Given the description of an element on the screen output the (x, y) to click on. 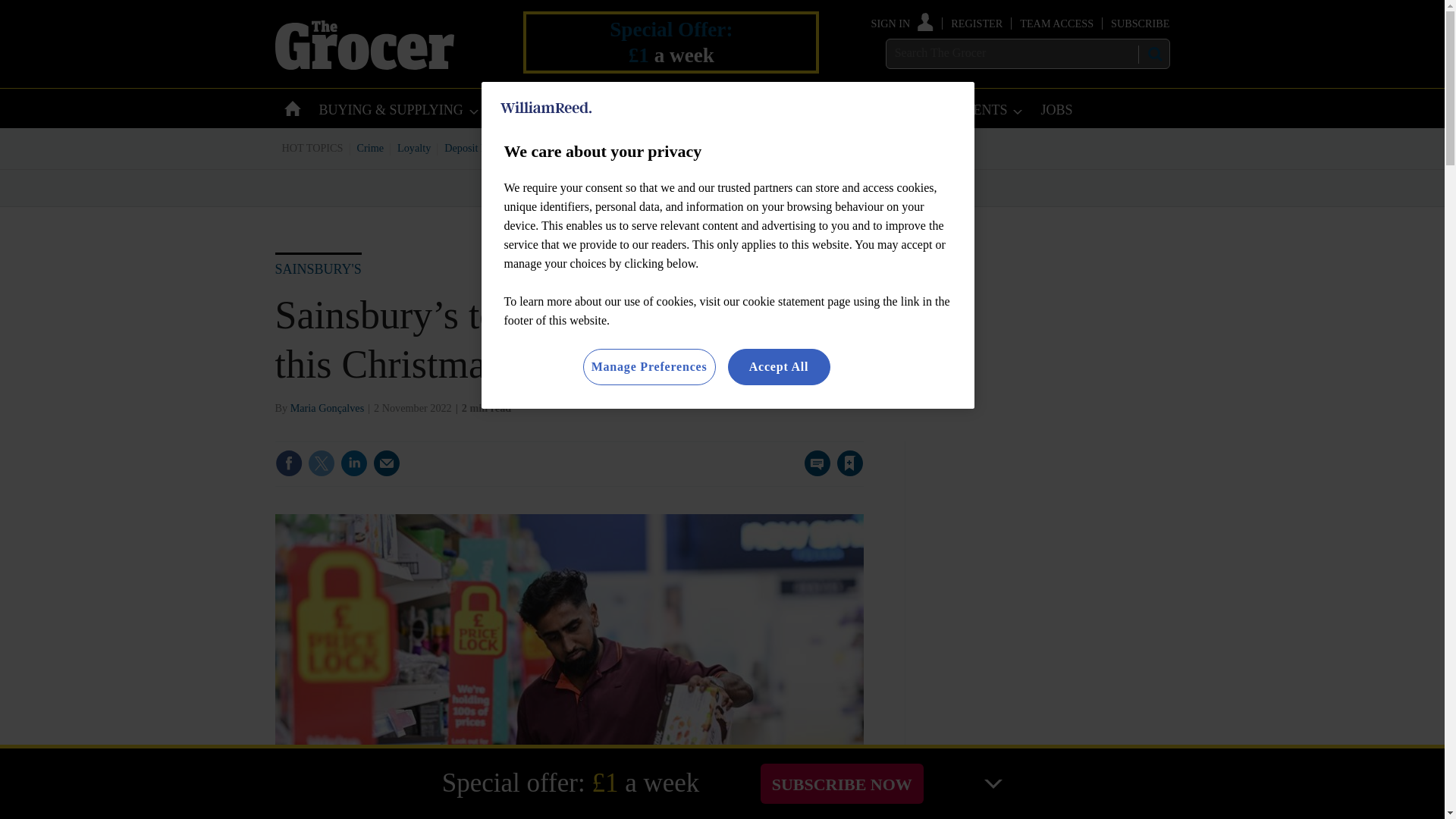
KVI price tracker (602, 147)
SUBSCRIBE (1139, 23)
TEAM ACCESS (1056, 23)
SIGN IN (902, 23)
Site name (363, 65)
Loyalty (414, 147)
SEARCH (1153, 53)
Crime (370, 147)
REGISTER (976, 23)
SUBSCRIBE NOW (841, 783)
